Given the description of an element on the screen output the (x, y) to click on. 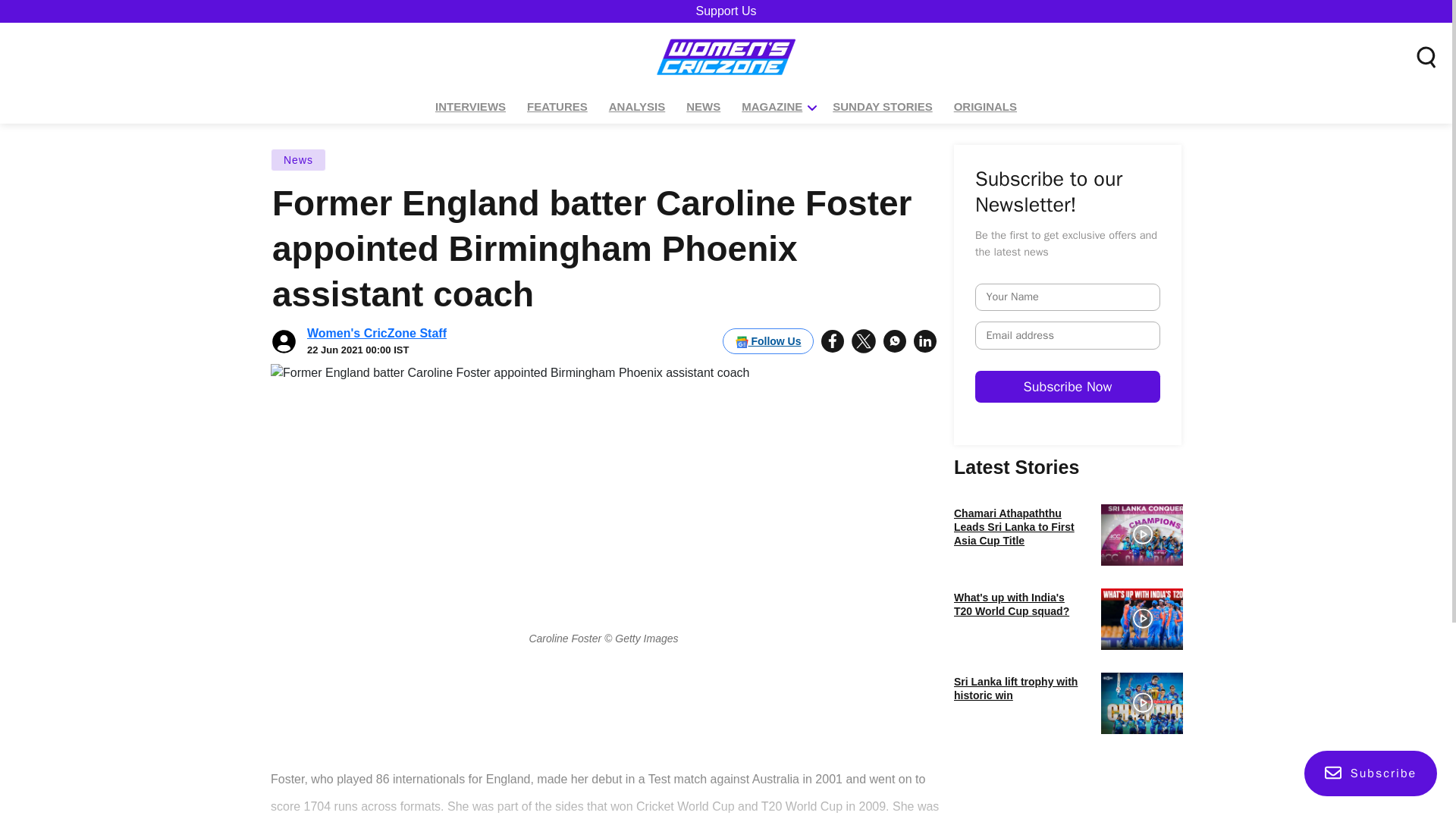
MAGAZINE (772, 106)
ORIGINALS (985, 106)
News (298, 159)
ANALYSIS (636, 106)
Women's CricZone Staff (376, 332)
INTERVIEWS (470, 106)
NEWS (703, 106)
Follow Us (767, 340)
SUNDAY STORIES (882, 106)
FEATURES (556, 106)
